Given the description of an element on the screen output the (x, y) to click on. 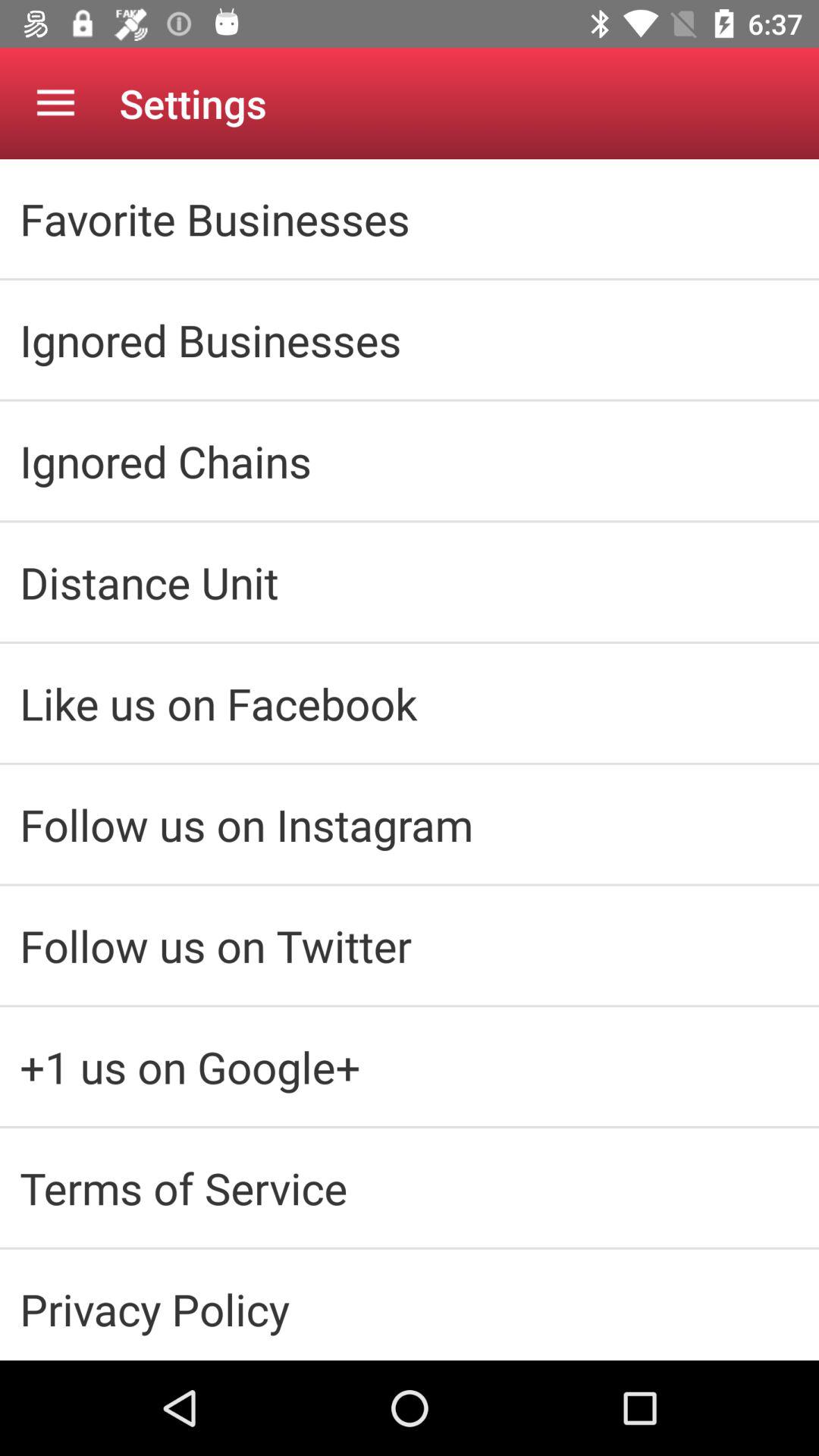
choose the terms of service icon (409, 1187)
